Given the description of an element on the screen output the (x, y) to click on. 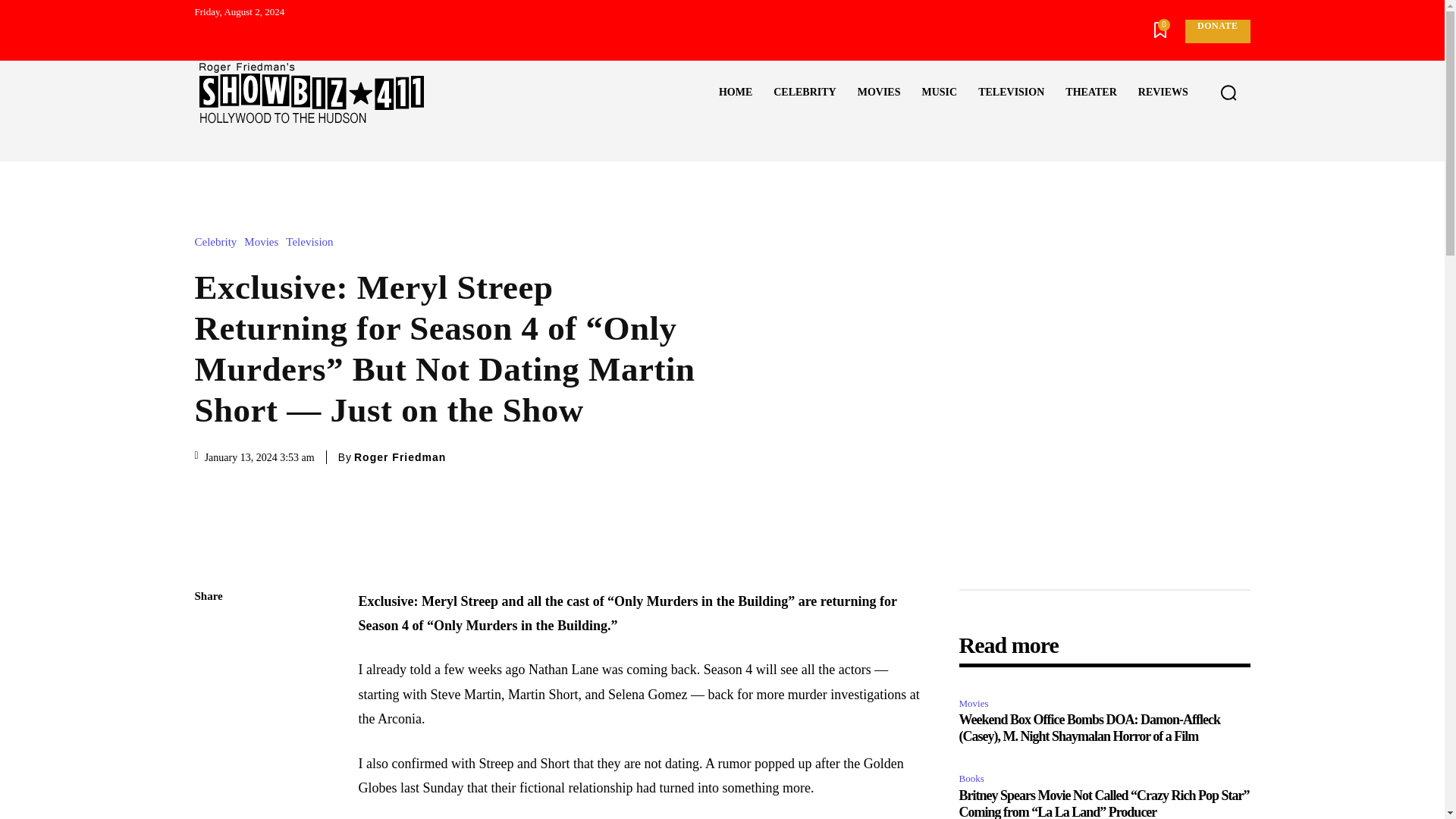
Celebrity (218, 242)
CELEBRITY (803, 92)
HOME (734, 92)
DONATE (1217, 31)
MUSIC (939, 92)
Donate (1217, 31)
MOVIES (879, 92)
TELEVISION (1011, 92)
REVIEWS (1162, 92)
THEATER (1090, 92)
